Given the description of an element on the screen output the (x, y) to click on. 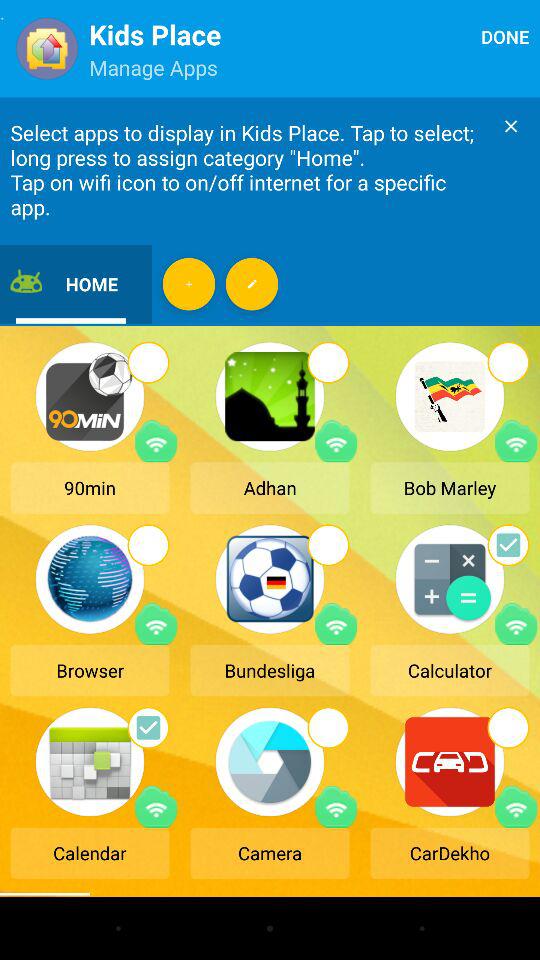
wifi icon on/off (336, 624)
